Given the description of an element on the screen output the (x, y) to click on. 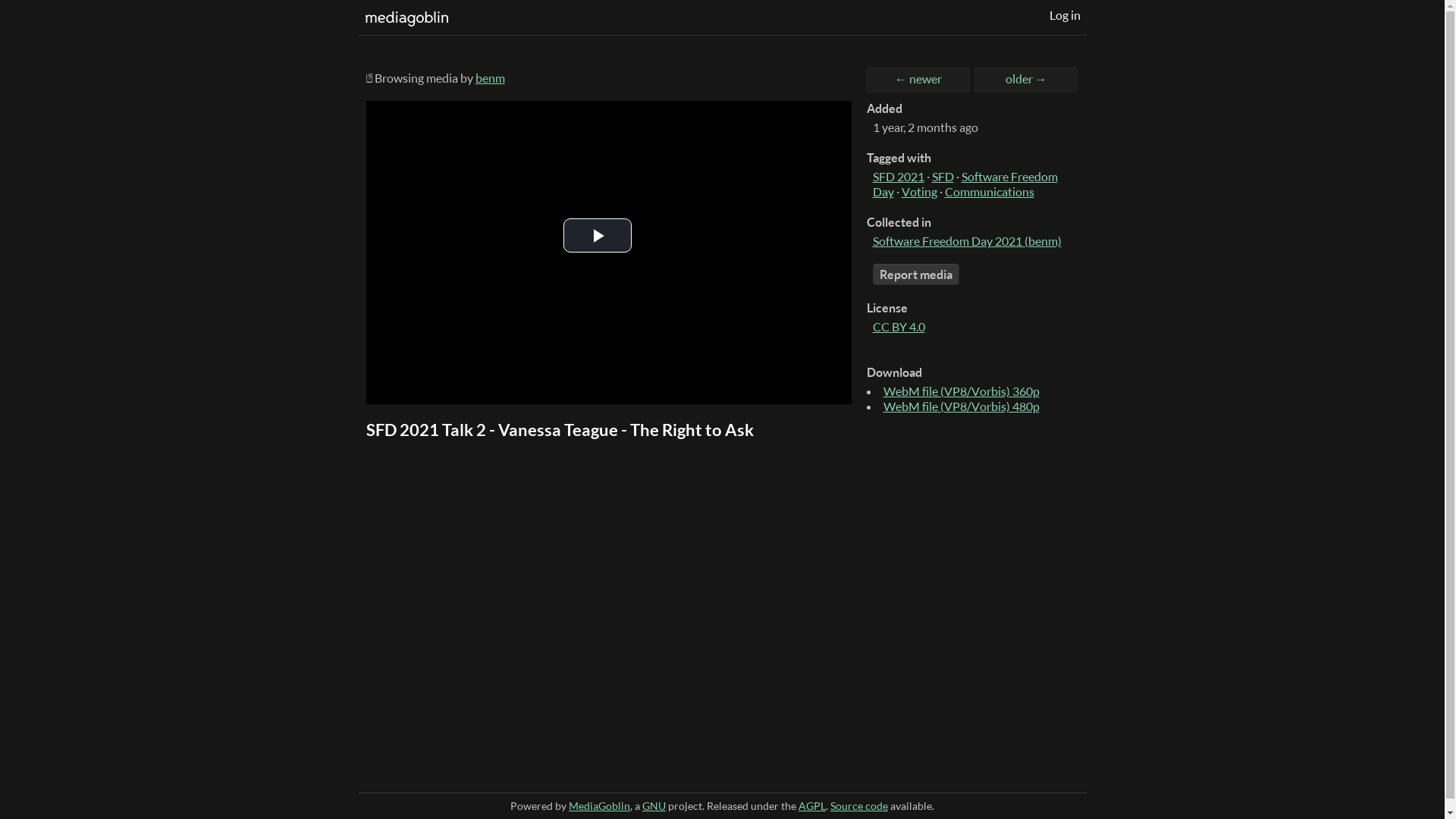
WebM file (VP8/Vorbis) 360p Element type: text (960, 390)
GNU Element type: text (653, 805)
benm Element type: text (489, 77)
Report media Element type: text (915, 274)
Software Freedom Day 2021 (benm) Element type: text (966, 240)
MediaGoblin Element type: text (599, 805)
SFD Element type: text (942, 176)
Source code Element type: text (859, 805)
AGPL Element type: text (811, 805)
Software Freedom Day Element type: text (964, 184)
SFD 2021 Element type: text (897, 176)
WebM file (VP8/Vorbis) 480p Element type: text (960, 406)
CC BY 4.0 Element type: text (898, 326)
Play Video Element type: text (596, 235)
Log in Element type: text (1064, 14)
Communications Element type: text (989, 191)
Voting Element type: text (918, 191)
